Given the description of an element on the screen output the (x, y) to click on. 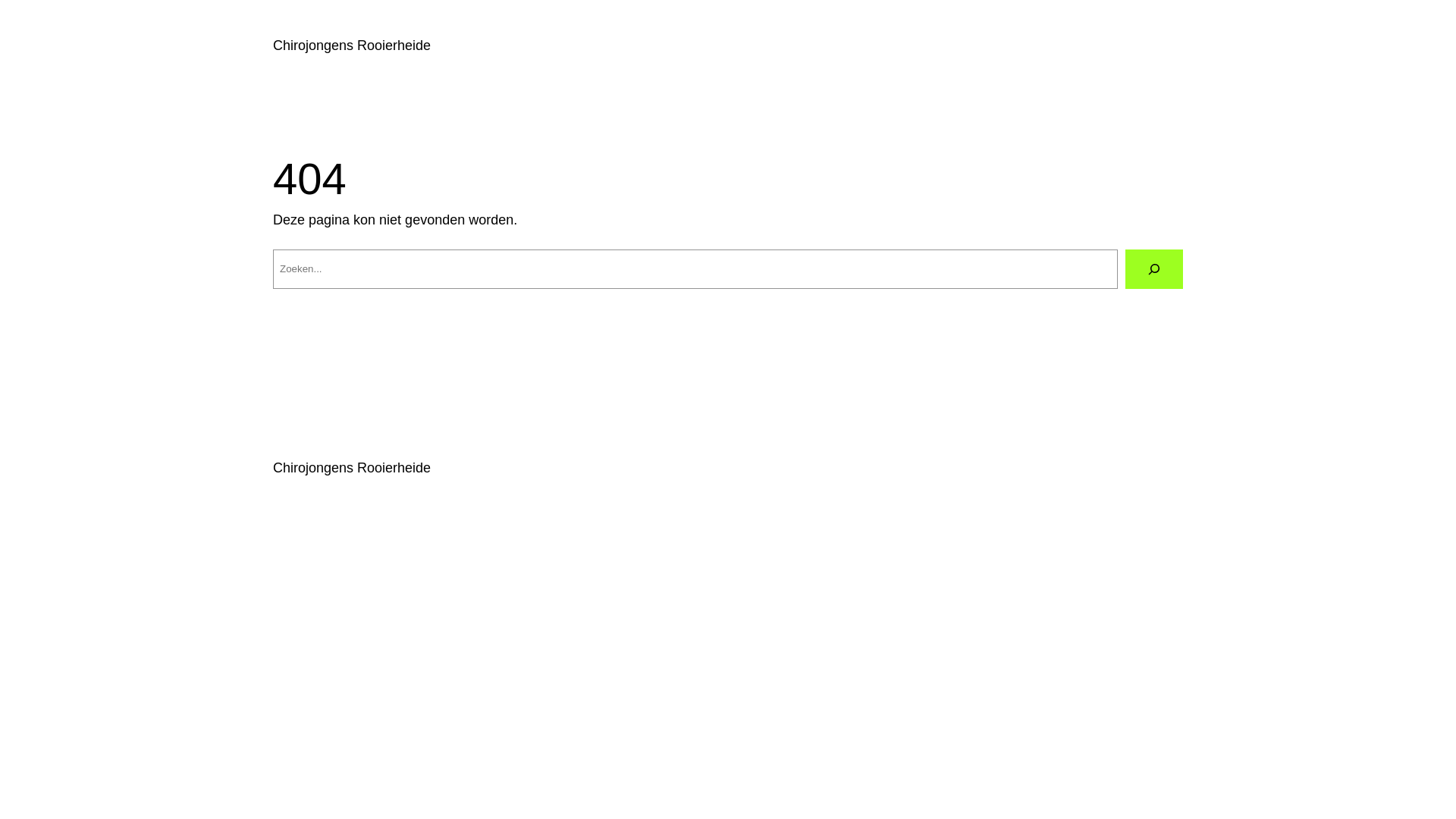
Chirojongens Rooierheide Element type: text (351, 467)
Chirojongens Rooierheide Element type: text (351, 45)
